Given the description of an element on the screen output the (x, y) to click on. 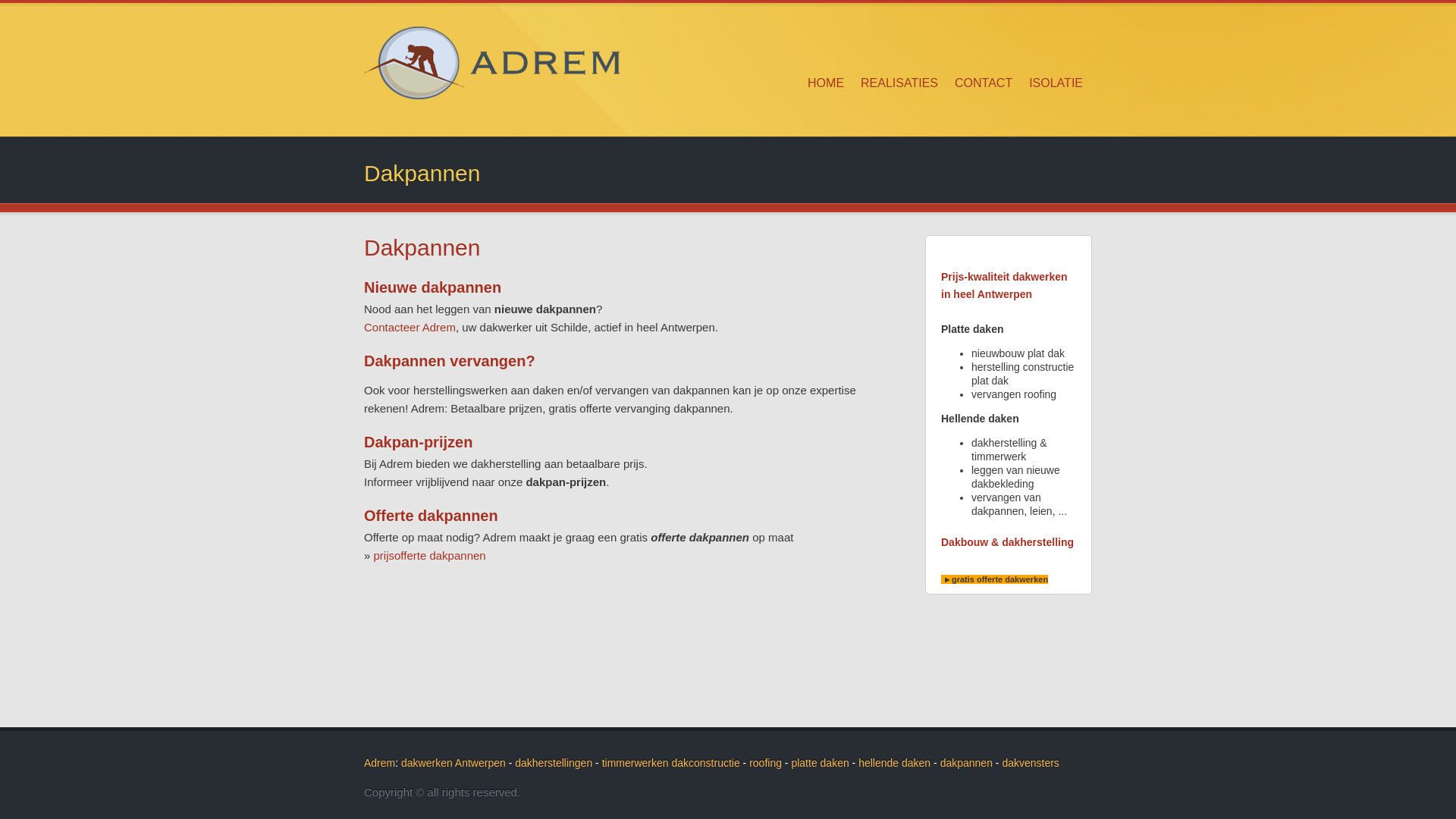
timmerwerken dakconstructie Element type: text (671, 762)
dakpannen Element type: text (966, 762)
dakherstelling Element type: text (1037, 542)
dakherstellingen Element type: text (553, 762)
dakwerken Element type: text (426, 762)
platte daken Element type: text (819, 762)
ISOLATIE Element type: text (1055, 83)
Platte daken Element type: text (972, 329)
Nieuwe dakpannen Element type: text (432, 287)
REALISATIES Element type: text (899, 83)
Adrem Element type: text (379, 762)
hellende daken Element type: text (894, 762)
Offerte dakpannen Element type: text (431, 515)
Antwerpen Element type: text (480, 762)
prijsofferte dakpannen Element type: text (429, 555)
Contacteer Adrem Element type: text (409, 326)
Hellende daken Element type: text (980, 418)
dakvensters Element type: text (1029, 762)
CONTACT Element type: text (983, 83)
Dakpannen vervangen? Element type: text (449, 360)
HOME Element type: text (825, 83)
roofing Element type: text (765, 762)
Dakpan-prijzen Element type: text (418, 441)
Dakbouw Element type: text (964, 542)
